Given the description of an element on the screen output the (x, y) to click on. 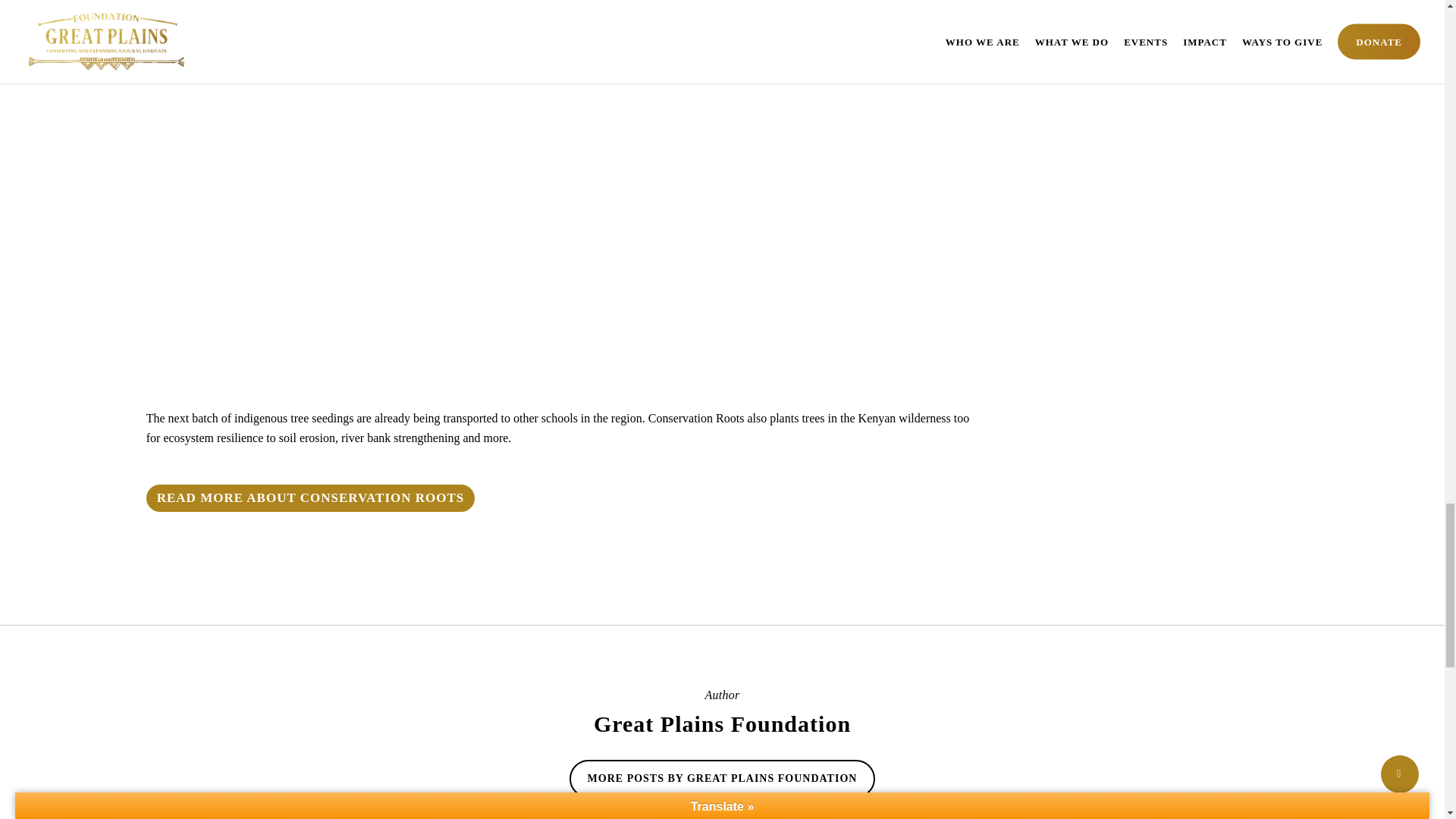
READ MORE ABOUT CONSERVATION ROOTS (311, 497)
MORE POSTS BY GREAT PLAINS FOUNDATION (722, 778)
